Given the description of an element on the screen output the (x, y) to click on. 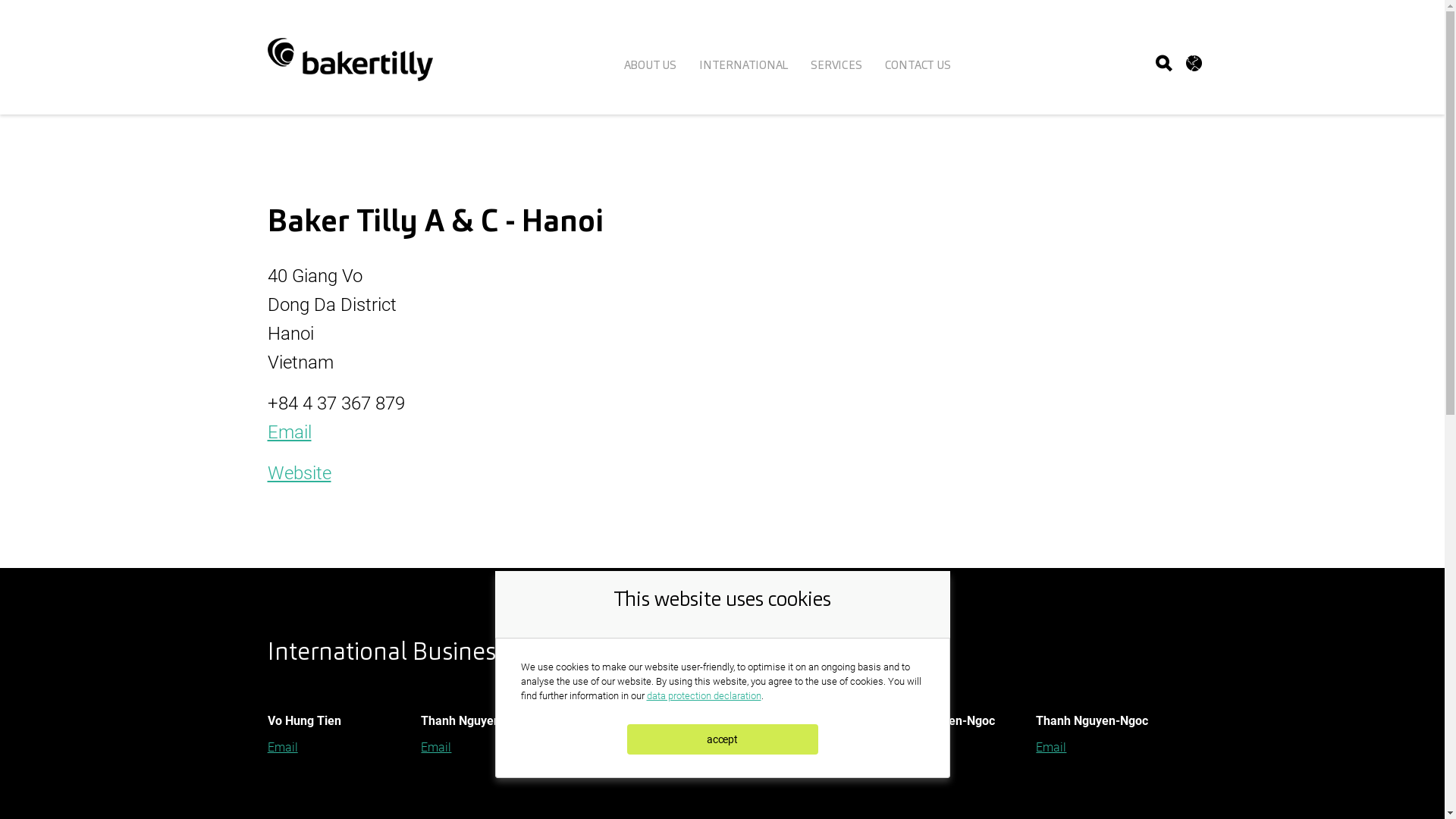
ABOUT US Element type: text (650, 64)
INTERNATIONAL Element type: text (743, 64)
Email Element type: text (897, 747)
SERVICES Element type: text (835, 64)
Website Element type: text (298, 472)
Email Element type: text (589, 747)
accept Element type: text (721, 739)
Email Element type: text (435, 747)
Email Element type: text (743, 747)
Email Element type: text (1050, 747)
Email Element type: text (282, 747)
CONTACT US Element type: text (917, 64)
Email Element type: text (288, 431)
data protection declaration Element type: text (703, 695)
